Given the description of an element on the screen output the (x, y) to click on. 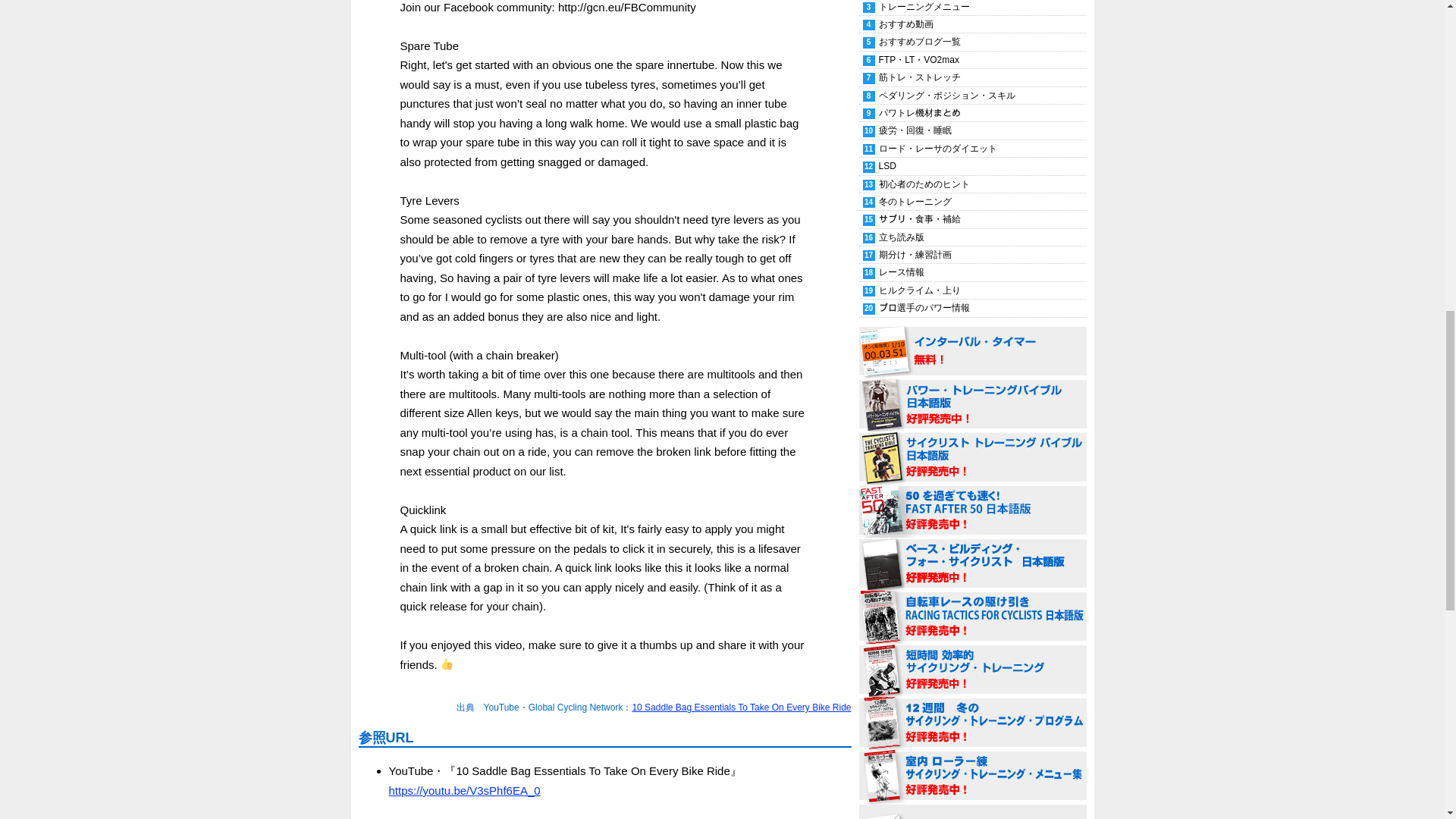
10 Saddle Bag Essentials To Take On Every Bike Ride (740, 706)
